Given the description of an element on the screen output the (x, y) to click on. 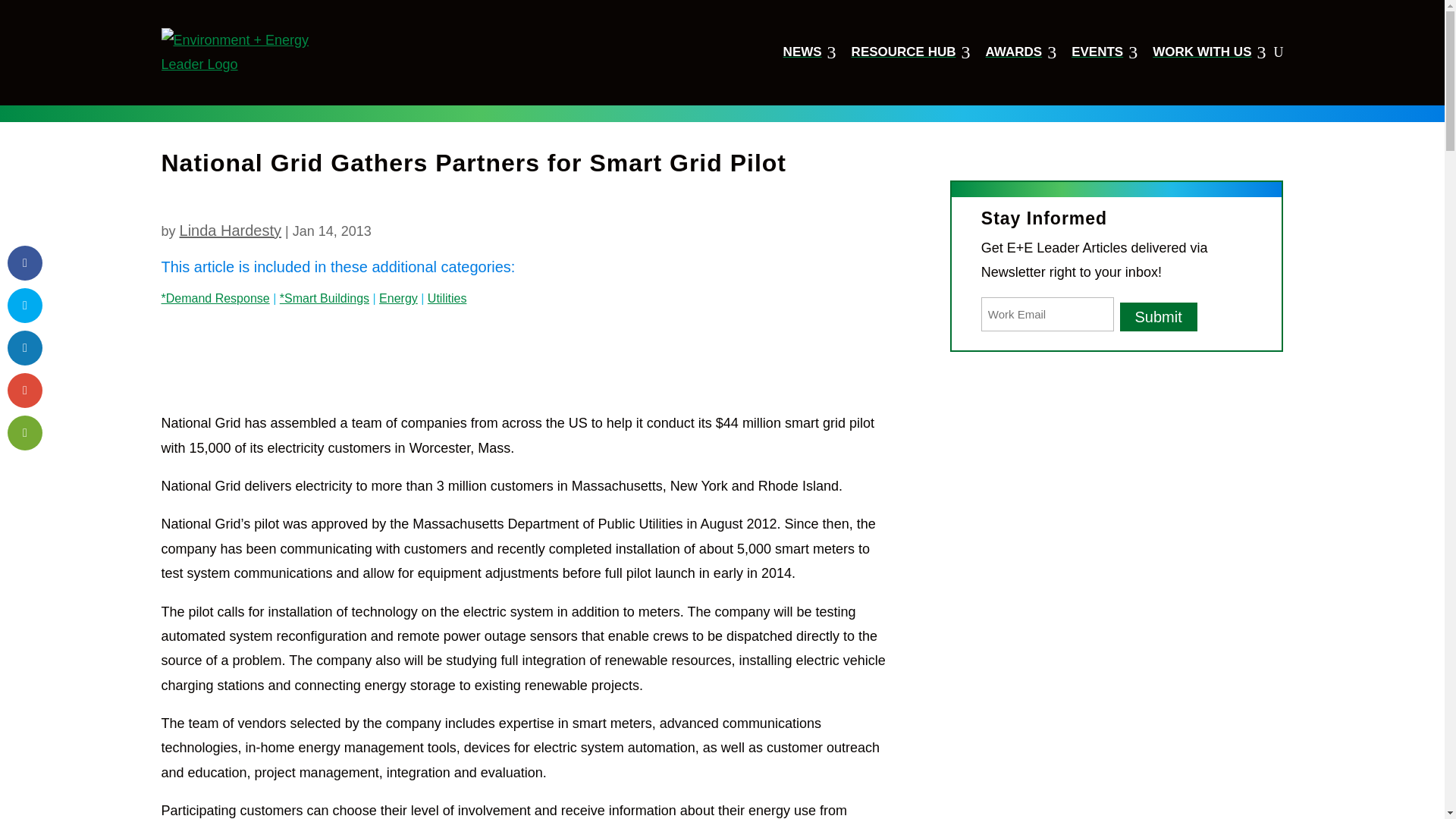
Submit (1021, 52)
Posts by Linda Hardesty (809, 52)
